Given the description of an element on the screen output the (x, y) to click on. 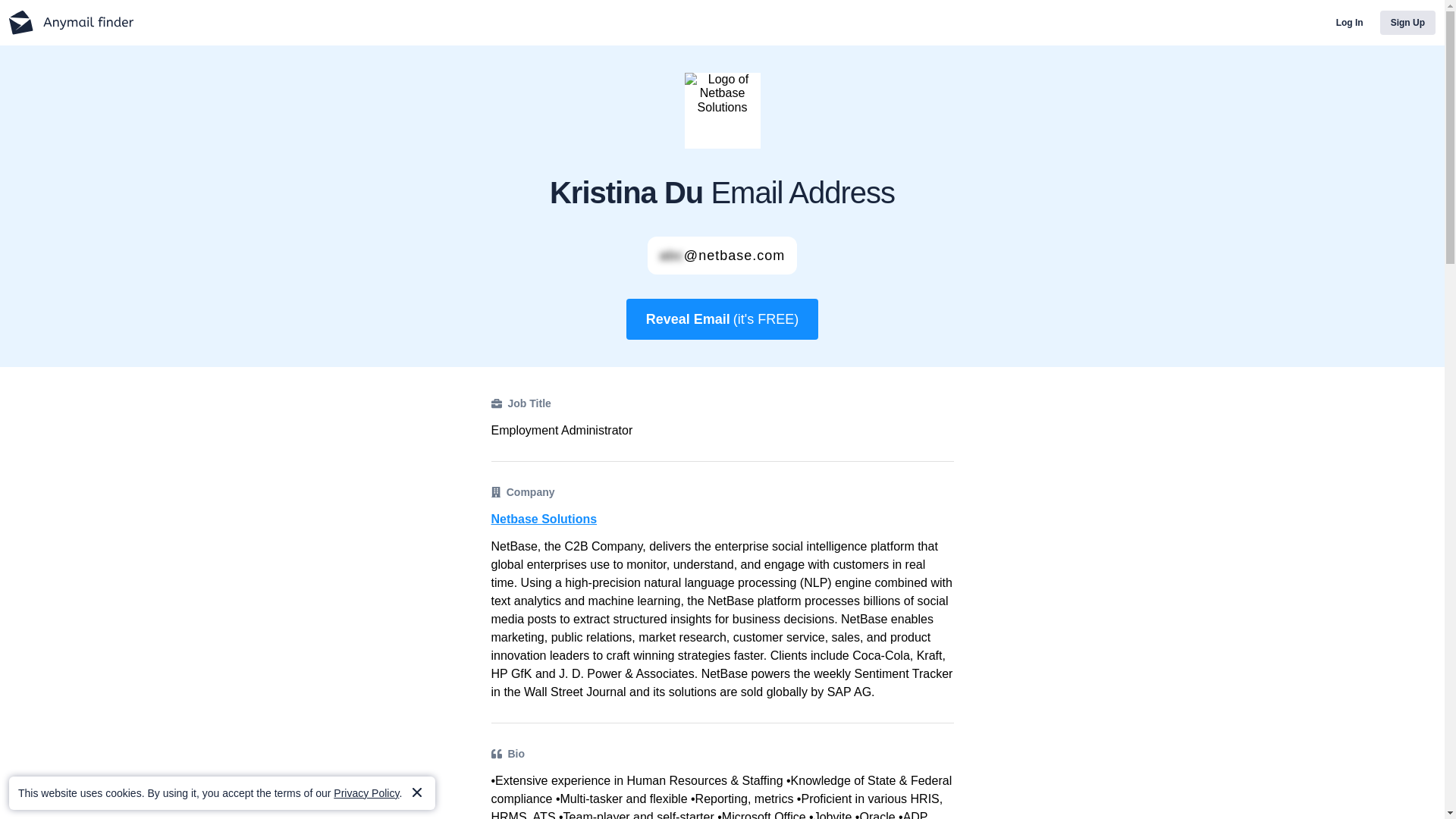
Sign Up (1407, 22)
Log In (1349, 22)
Netbase Solutions (722, 519)
